Given the description of an element on the screen output the (x, y) to click on. 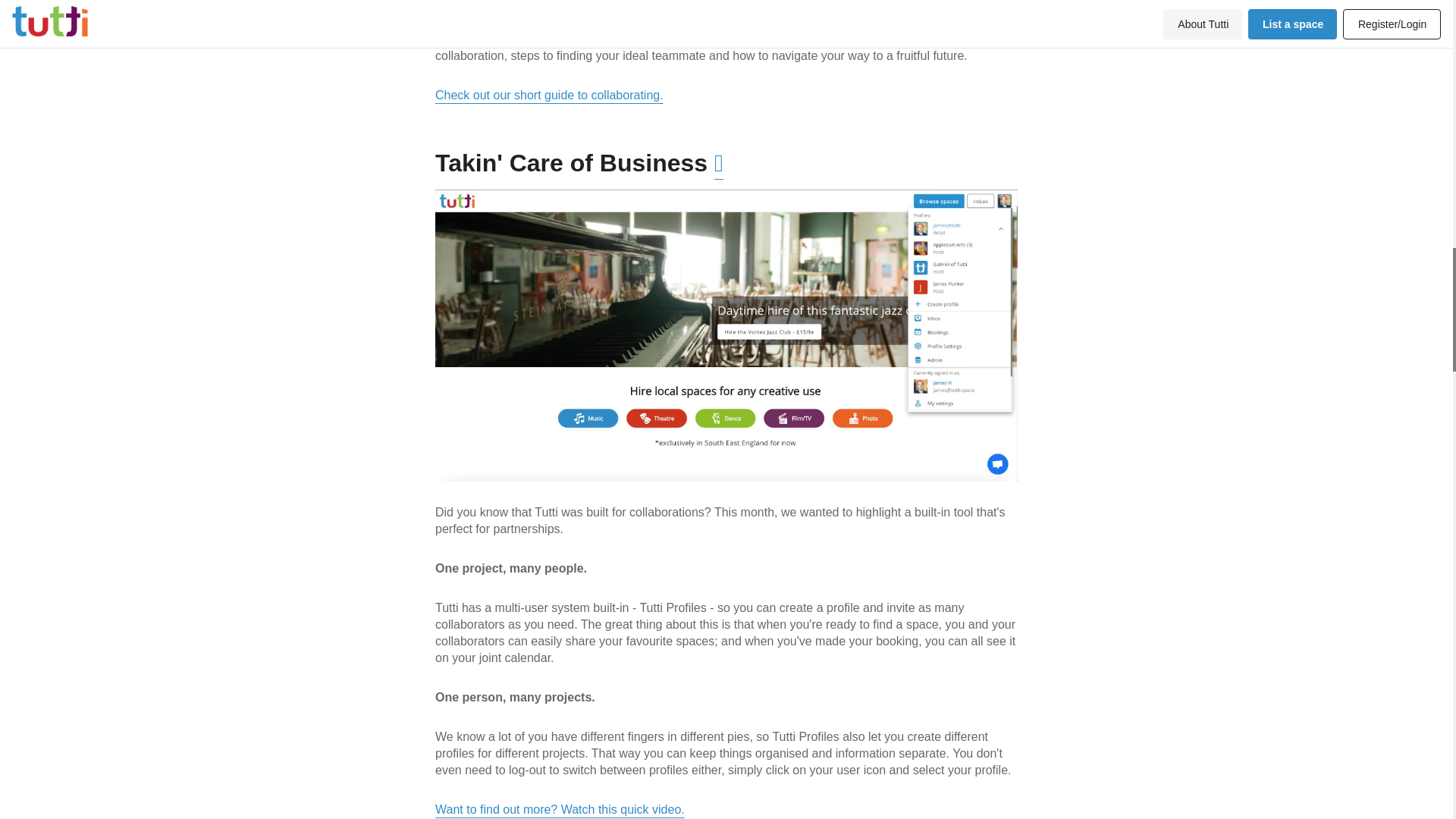
Check out our short guide to collaborating. (549, 94)
Want to find out more? Watch this quick video. (559, 809)
